Given the description of an element on the screen output the (x, y) to click on. 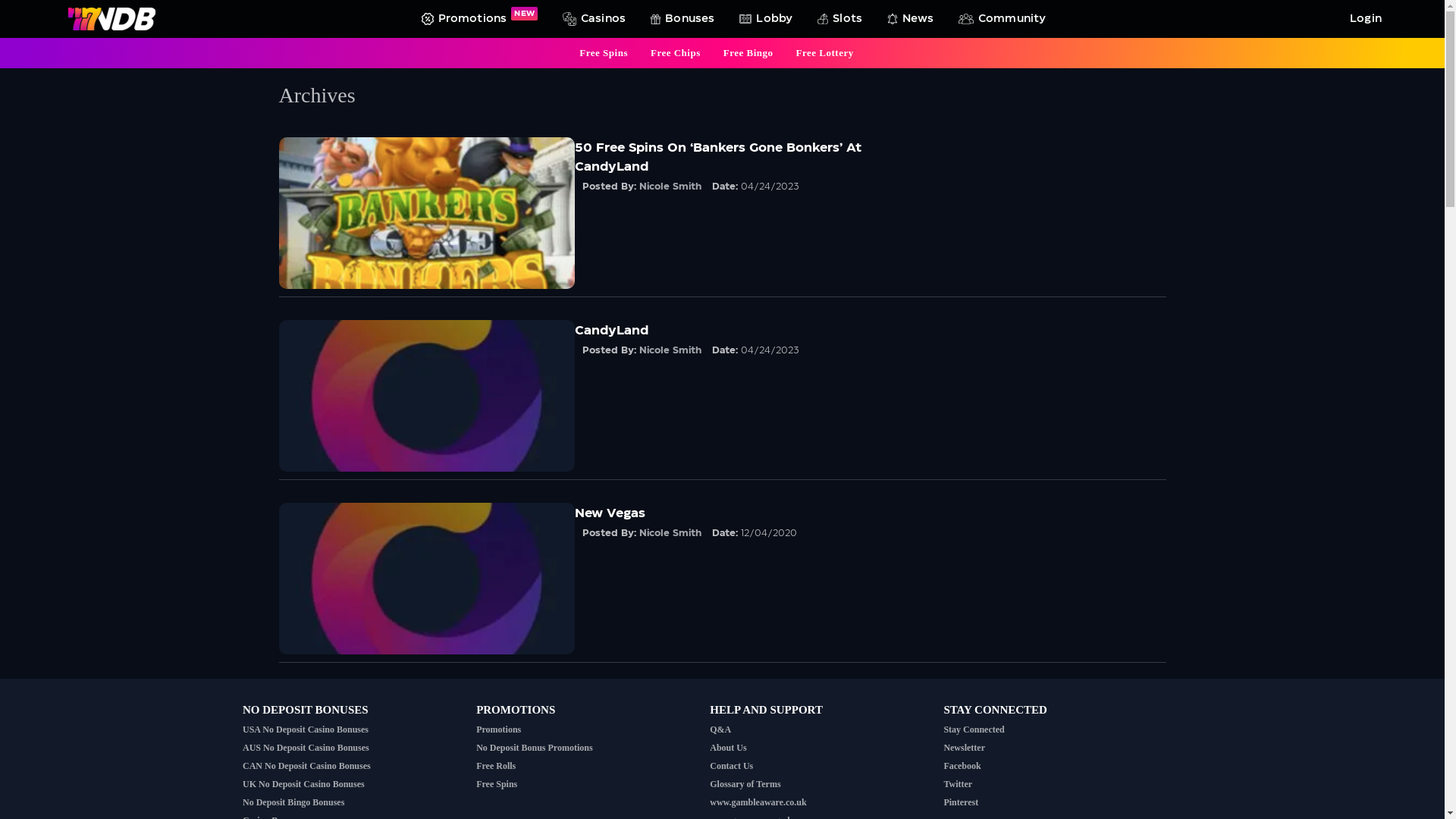
Facebook Element type: text (961, 765)
Promotions Element type: text (498, 729)
Contact Us Element type: text (731, 765)
Pinterest Element type: text (960, 802)
Stay Connected Element type: text (973, 729)
Login Element type: text (1362, 18)
Free Spins Element type: text (603, 52)
Lobby Element type: text (762, 18)
AUS No Deposit Casino Bonuses Element type: text (305, 747)
CandyLand Element type: hover (426, 395)
News Element type: text (907, 18)
Free Spins Element type: text (496, 783)
CandyLand Element type: text (611, 330)
About Us Element type: text (727, 747)
Bonuses Element type: text (679, 18)
LATEST PROMOTIONS Element type: text (1266, 697)
Free Rolls Element type: text (495, 765)
Casinos Element type: text (591, 18)
New Vegas Element type: text (609, 513)
USA No Deposit Casino Bonuses Element type: text (305, 729)
Slots Element type: text (836, 18)
CAN No Deposit Casino Bonuses Element type: text (306, 765)
Newsletter Element type: text (964, 747)
Twitter Element type: text (957, 783)
UK No Deposit Casino Bonuses Element type: text (303, 783)
Community Element type: text (999, 18)
Nicole Smith Element type: text (669, 532)
Free Bingo Element type: text (748, 52)
Glossary of Terms Element type: text (744, 783)
Nicole Smith Element type: text (669, 186)
New Vegas Element type: hover (426, 578)
No Deposit Bonus Promotions Element type: text (534, 747)
www.gambleaware.co.uk Element type: text (757, 802)
Free Chips Element type: text (675, 52)
No Deposit Bingo Bonuses Element type: text (293, 802)
Search Element type: text (11, 7)
Nicole Smith Element type: text (669, 349)
Q&A Element type: text (720, 729)
PromotionsNEW Element type: text (476, 18)
Free Lottery Element type: text (824, 52)
